Given the description of an element on the screen output the (x, y) to click on. 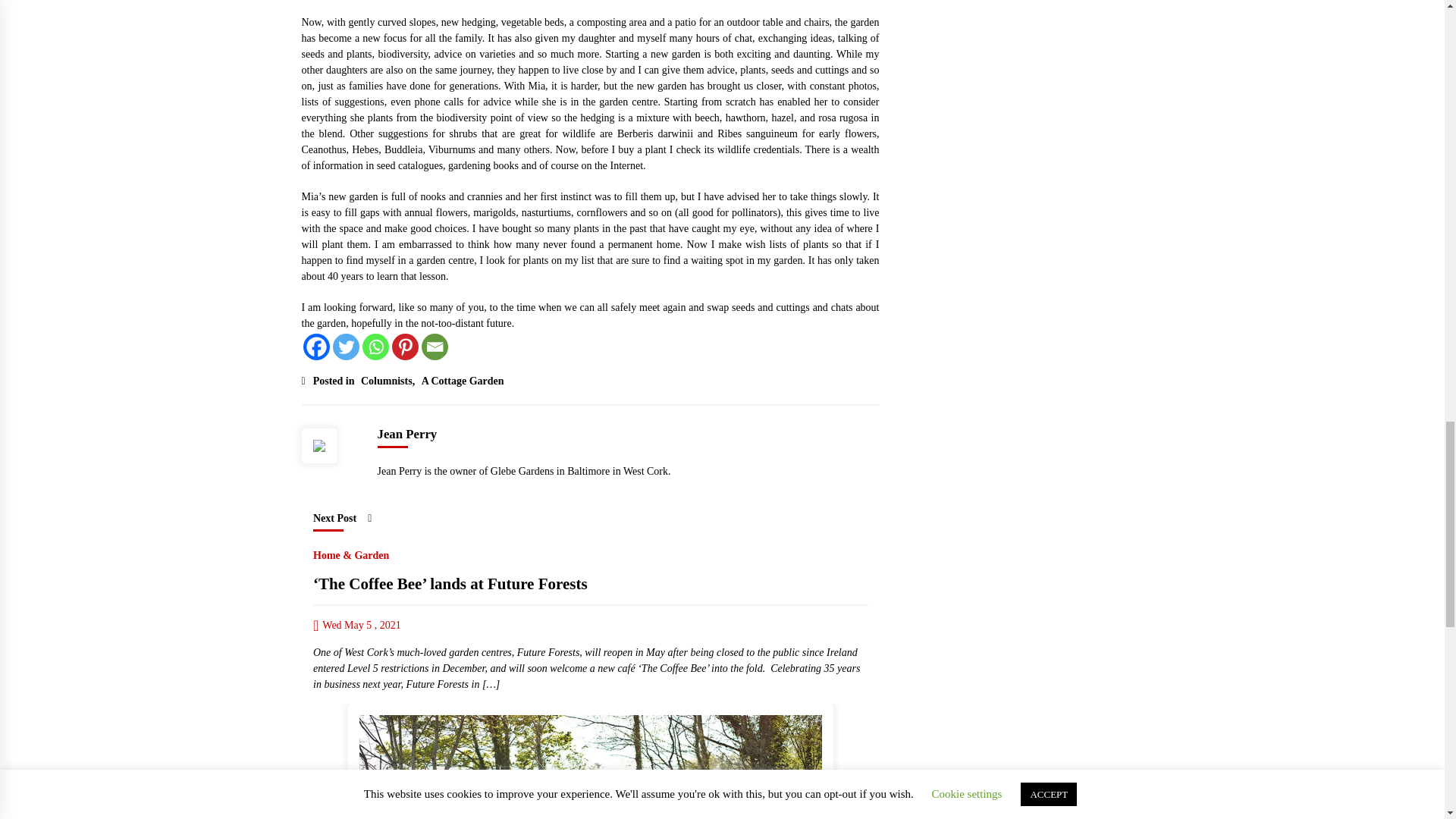
Whatsapp (375, 346)
Pinterest (404, 346)
Email (435, 346)
Twitter (344, 346)
Facebook (316, 346)
